Given the description of an element on the screen output the (x, y) to click on. 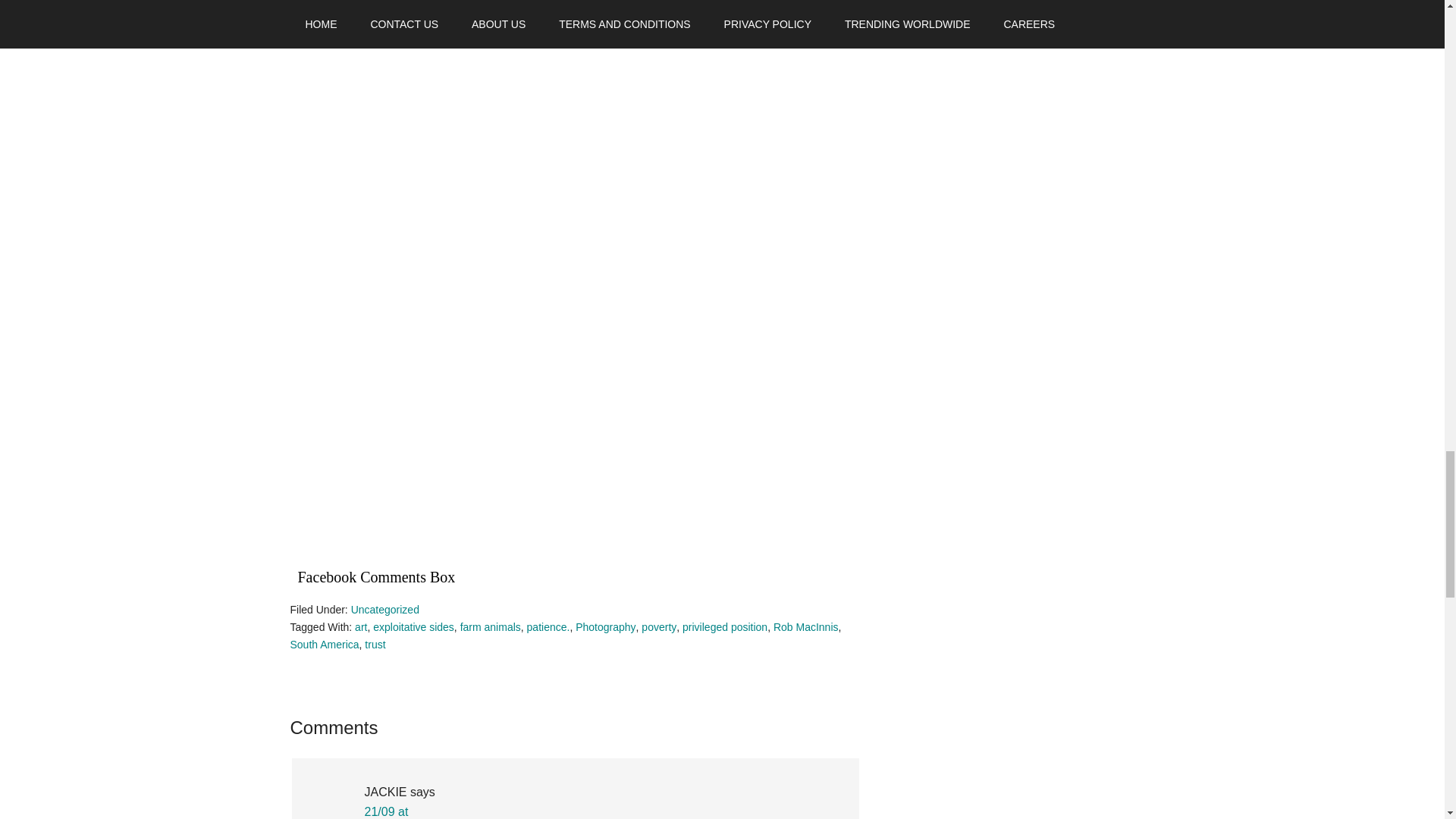
Photography (604, 626)
Uncategorized (384, 609)
farm animals (490, 626)
Rob MacInnis (805, 626)
trust (375, 644)
South America (323, 644)
privileged position (724, 626)
exploitative sides (413, 626)
poverty (659, 626)
art (360, 626)
patience. (548, 626)
